Given the description of an element on the screen output the (x, y) to click on. 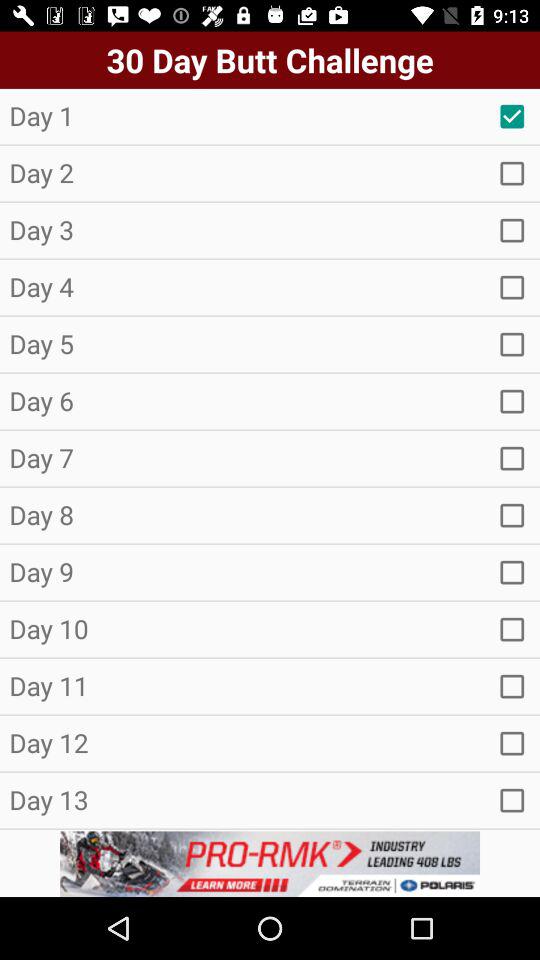
seach button (512, 173)
